Given the description of an element on the screen output the (x, y) to click on. 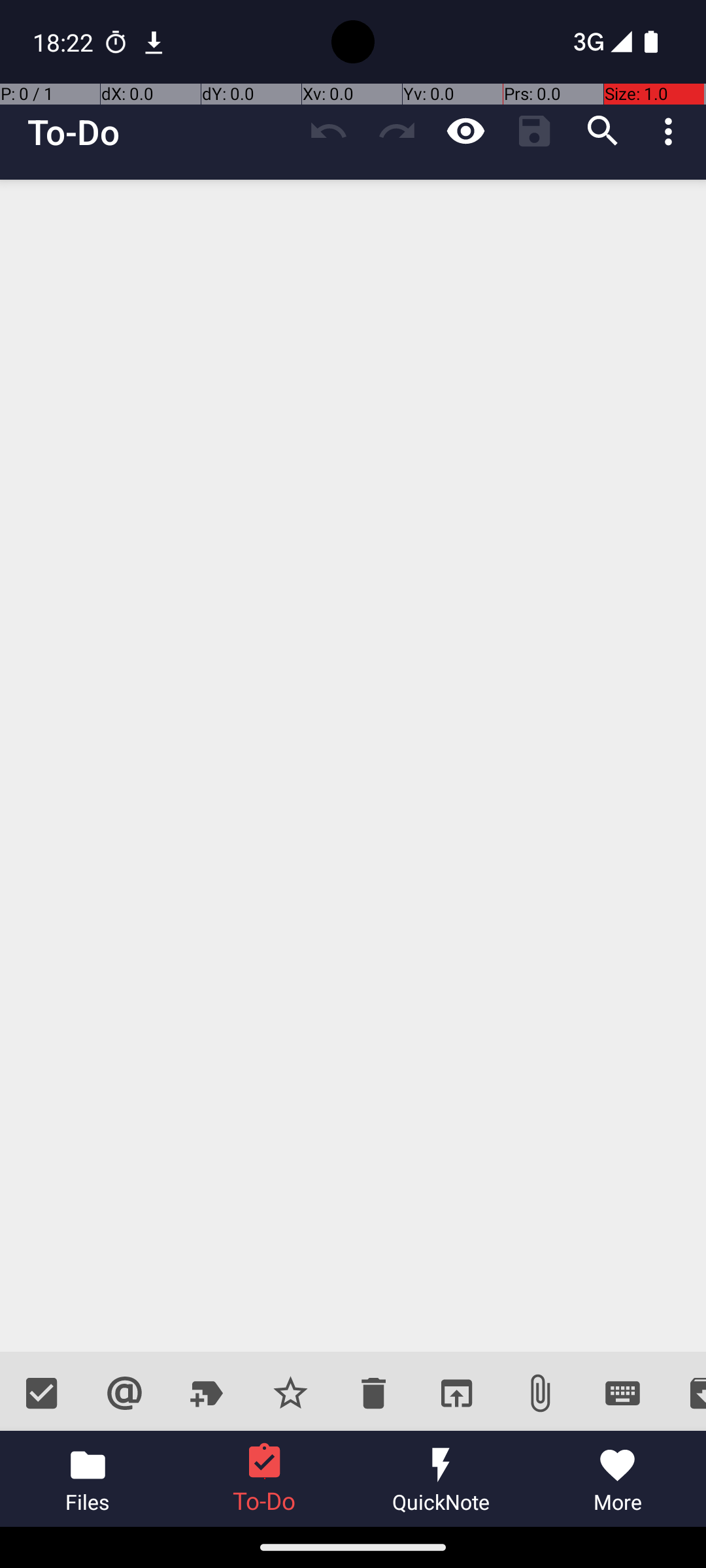
18:22 Element type: android.widget.TextView (64, 41)
